Given the description of an element on the screen output the (x, y) to click on. 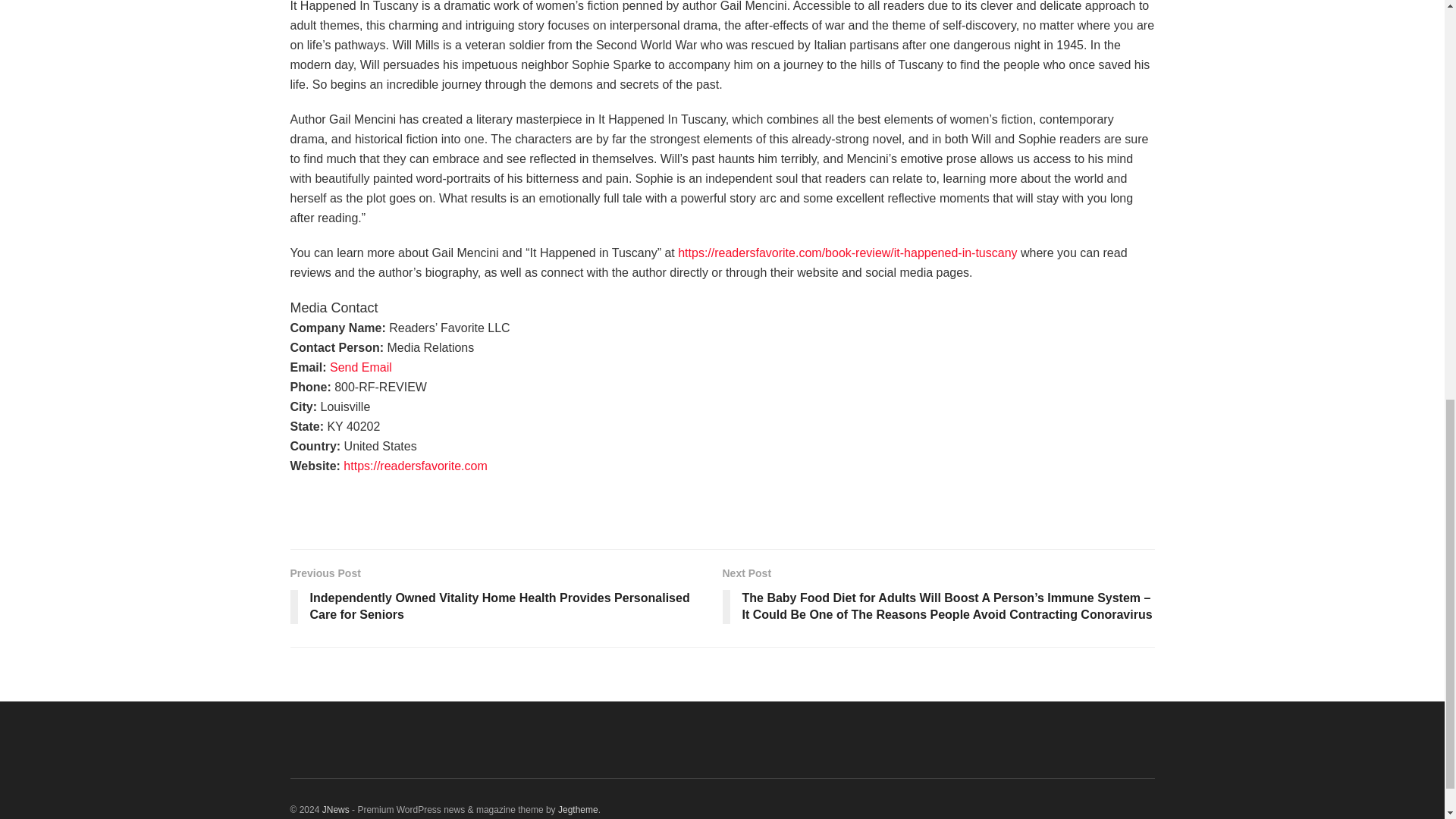
Send Email (360, 367)
Jegtheme (577, 809)
Jegtheme (577, 809)
JNews (335, 809)
